Given the description of an element on the screen output the (x, y) to click on. 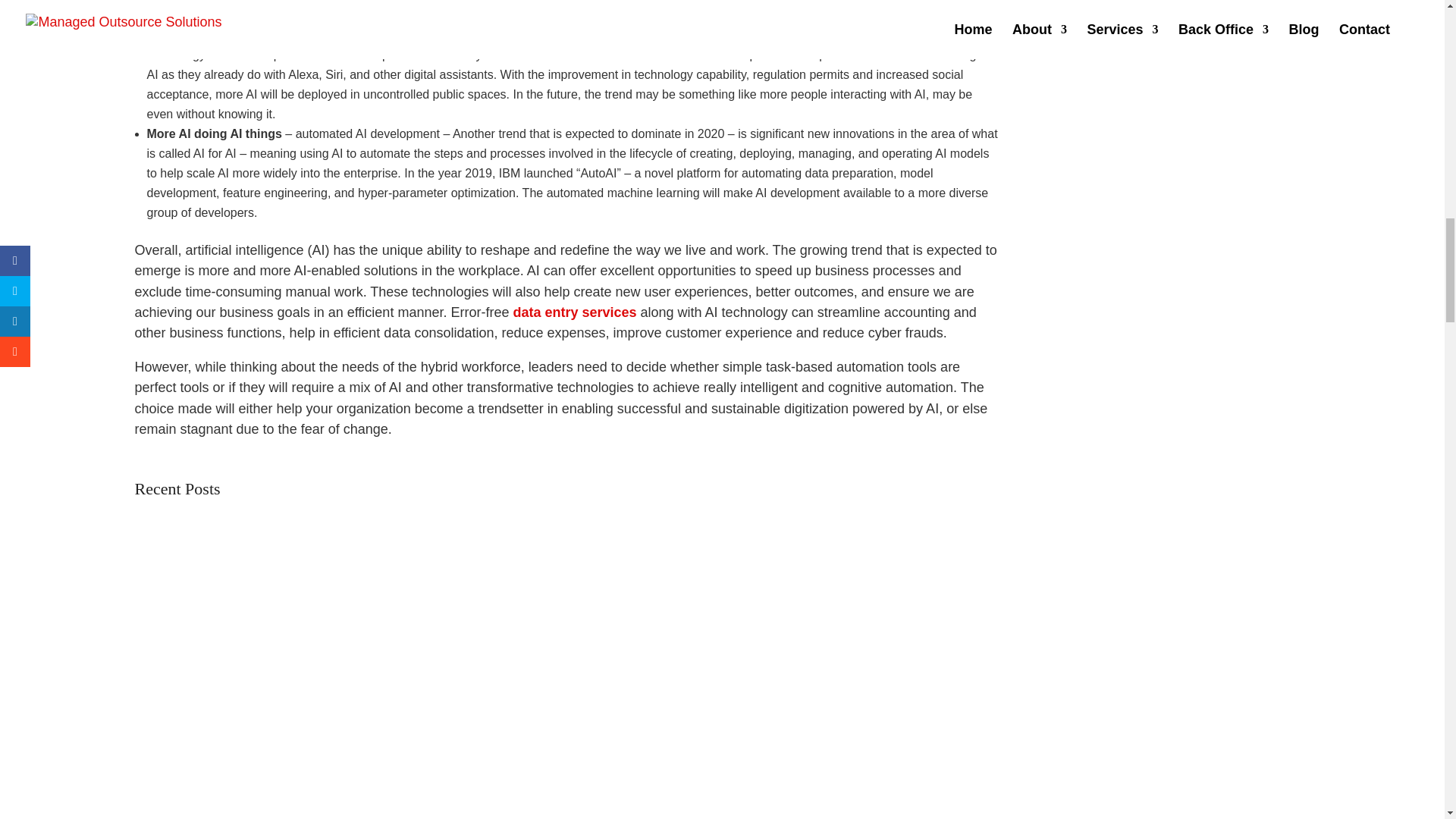
Data Entry Services (574, 312)
data entry services (574, 312)
